Given the description of an element on the screen output the (x, y) to click on. 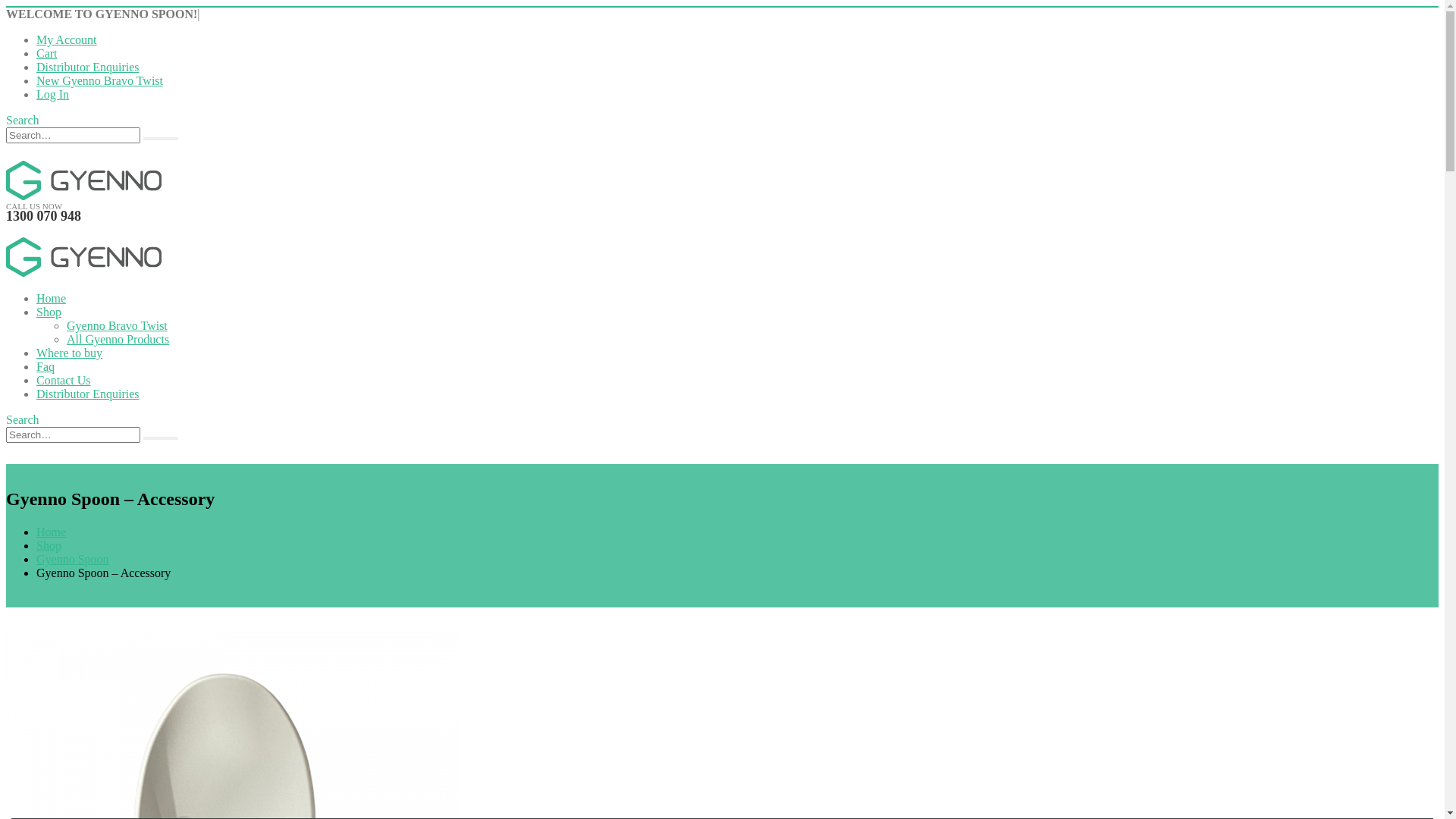
Cart Element type: text (46, 53)
Home Element type: text (50, 531)
Contact Us Element type: text (63, 379)
Search Element type: hover (160, 138)
Search Element type: text (22, 119)
Search Element type: text (22, 419)
Distributor Enquiries Element type: text (87, 393)
Gyenno Bravo Twist Element type: text (116, 325)
Shop Element type: text (48, 545)
New Gyenno Bravo Twist Element type: text (99, 80)
Home Element type: text (50, 297)
Shop Element type: text (48, 311)
My Account Element type: text (66, 39)
Gyenno Spoon Element type: text (72, 558)
Search Element type: hover (160, 437)
Faq Element type: text (45, 366)
Distributor Enquiries Element type: text (87, 66)
Log In Element type: text (52, 93)
All Gyenno Products Element type: text (117, 338)
Where to buy Element type: text (69, 352)
